Given the description of an element on the screen output the (x, y) to click on. 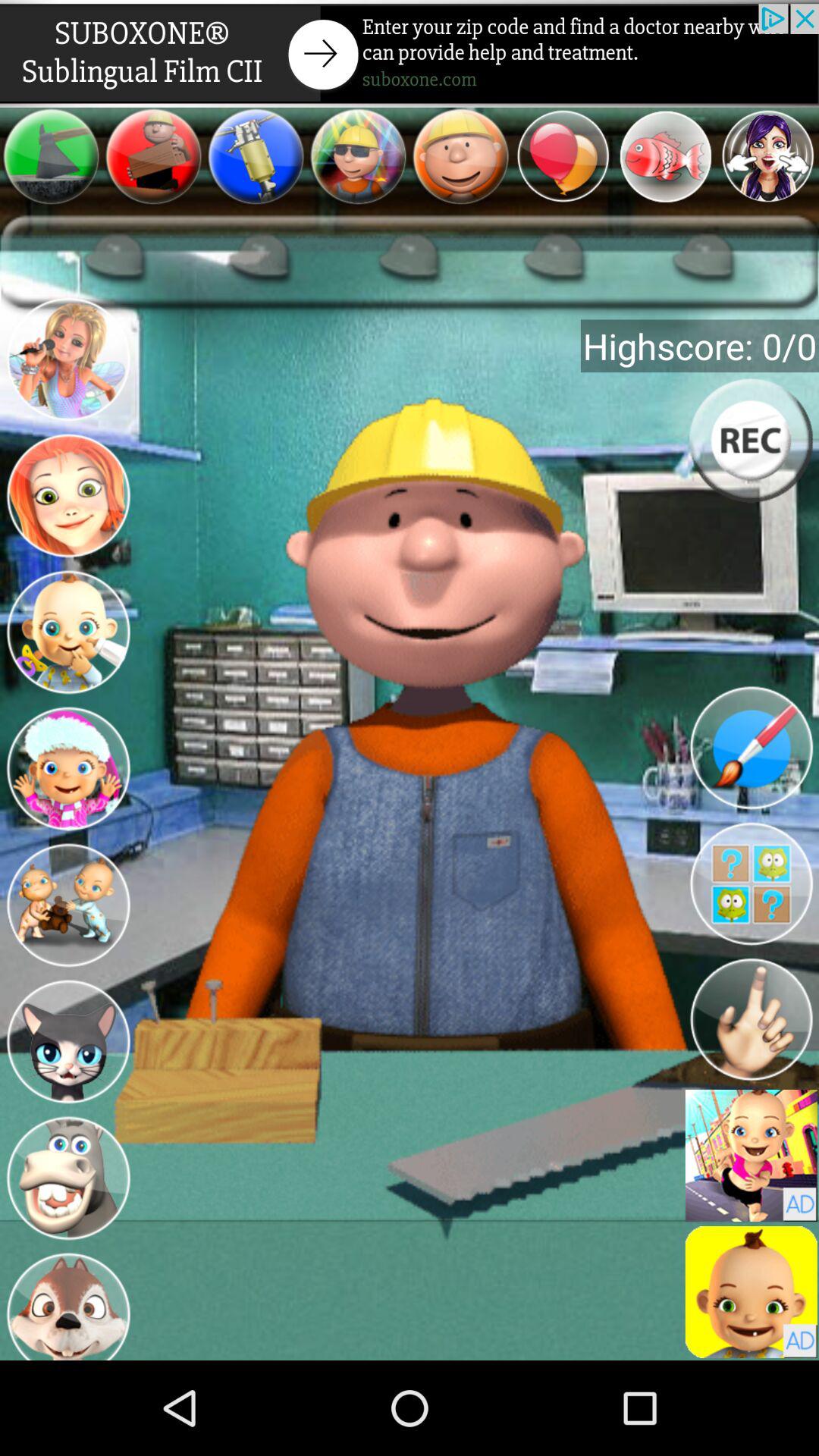
open advertisement (409, 53)
